Given the description of an element on the screen output the (x, y) to click on. 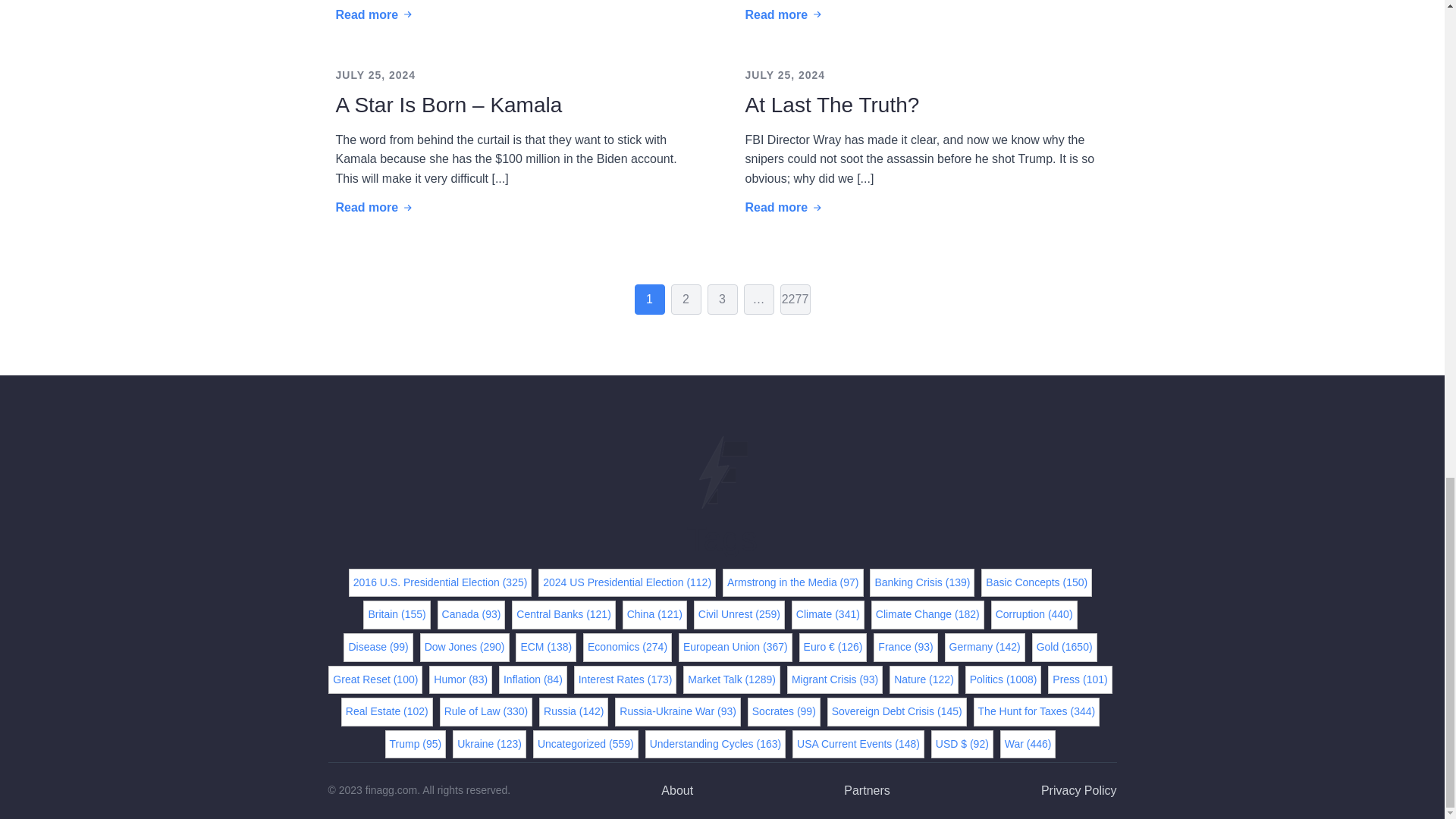
3 (721, 299)
2277 (793, 299)
Read more (374, 207)
Read more (784, 15)
1 (648, 299)
2 (684, 299)
At Last The Truth? (831, 104)
Read more (784, 207)
Read more (374, 15)
